Given the description of an element on the screen output the (x, y) to click on. 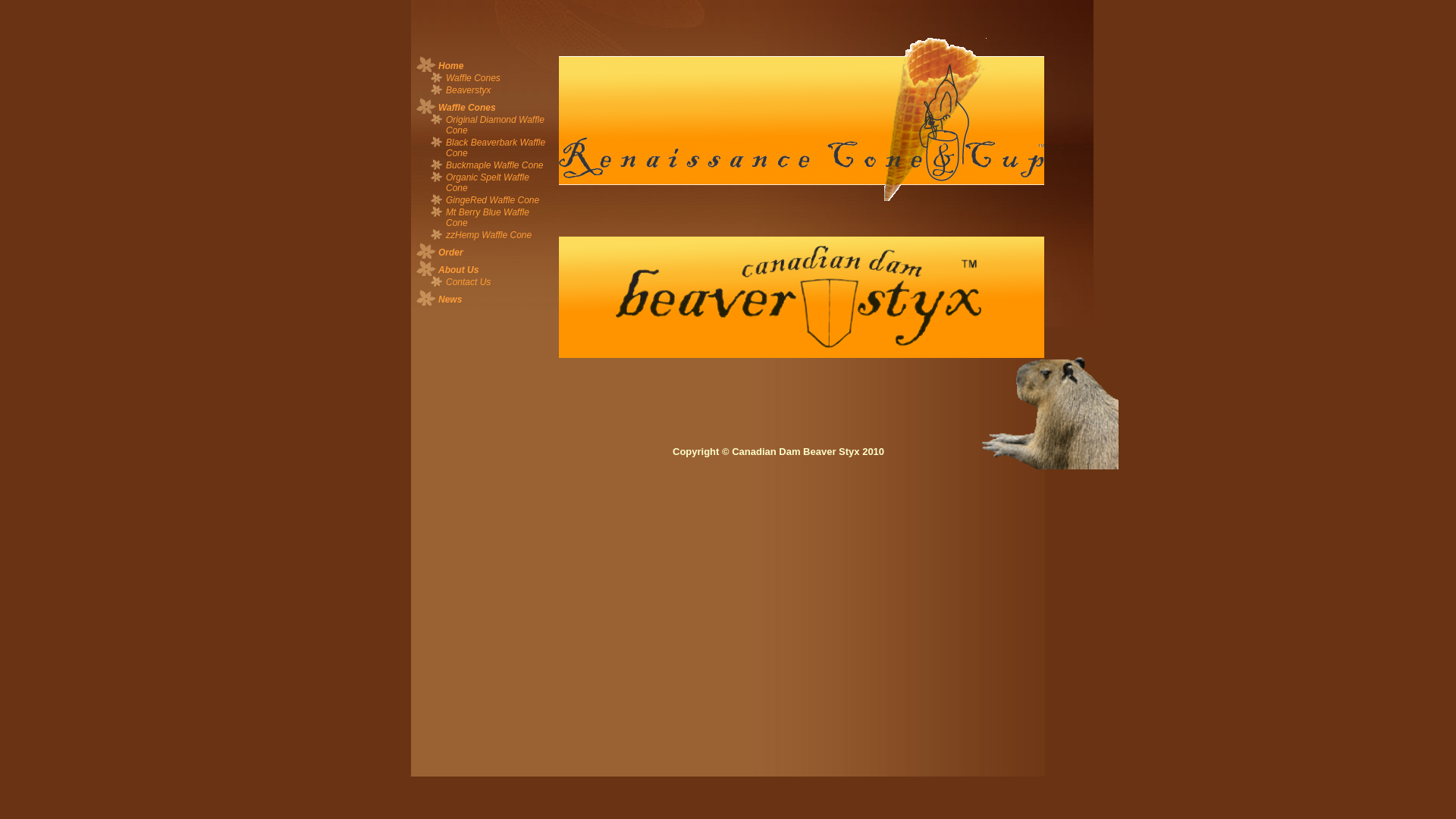
Waffle Cones Element type: text (483, 104)
GingeRed Waffle Cone Element type: text (483, 200)
Beaverstyx Element type: text (483, 90)
About Us Element type: text (483, 267)
Organic Spelt Waffle Cone Element type: text (483, 182)
Waffle Cones Element type: text (483, 78)
Original Diamond Waffle Cone Element type: text (483, 124)
News Element type: text (483, 296)
Contact Us Element type: text (483, 282)
Mt Berry Blue Waffle Cone Element type: text (483, 217)
Order Element type: text (483, 249)
Buckmaple Waffle Cone Element type: text (483, 165)
Black Beaverbark Waffle Cone Element type: text (483, 147)
zzHemp Waffle Cone Element type: text (483, 235)
Home Element type: text (483, 63)
